Given the description of an element on the screen output the (x, y) to click on. 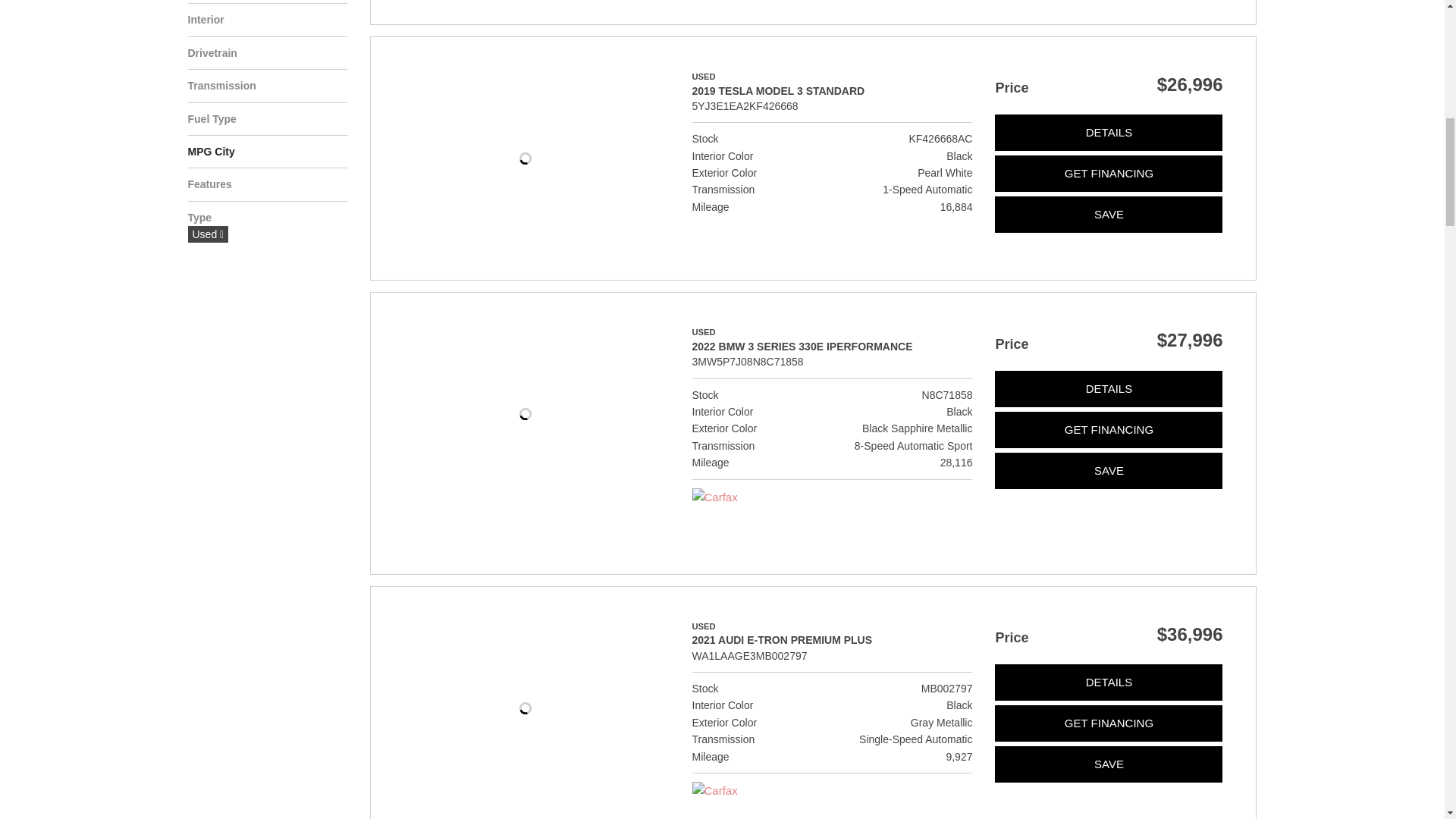
VIN (747, 361)
VIN (744, 105)
Carfax (713, 497)
